Given the description of an element on the screen output the (x, y) to click on. 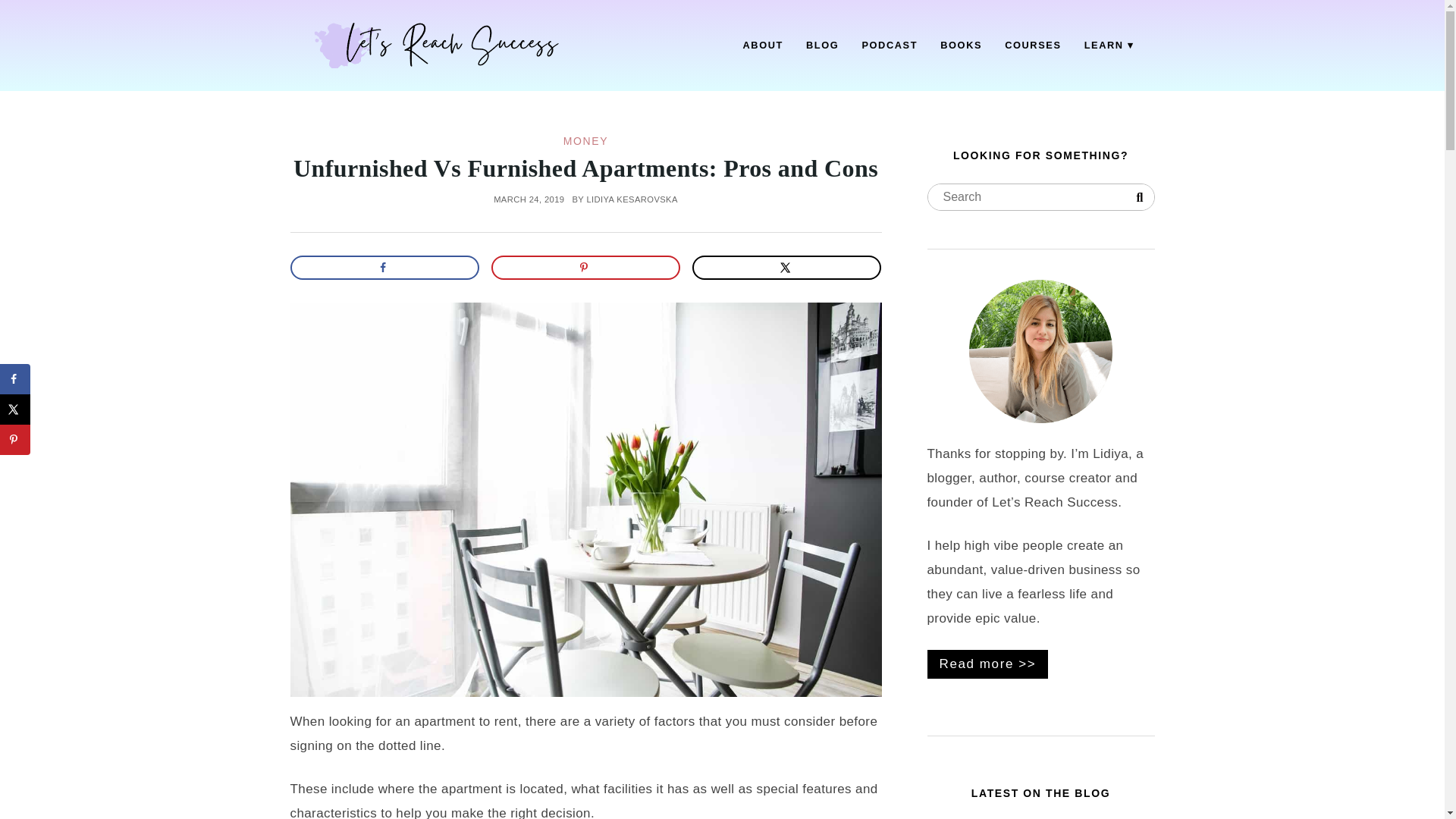
Save to Pinterest (586, 267)
COURSES (1032, 45)
Unfurnished Vs Furnished Apartments: Pros and Cons (585, 167)
Share on Facebook (384, 267)
Share on X (787, 267)
Share on Facebook (15, 378)
BLOG (822, 45)
MONEY (585, 141)
Unfurnished Vs Furnished Apartments: Pros and Cons (585, 167)
Share on X (15, 409)
PODCAST (889, 45)
ABOUT (763, 45)
BOOKS (960, 45)
LEARN (1109, 45)
Save to Pinterest (15, 440)
